Given the description of an element on the screen output the (x, y) to click on. 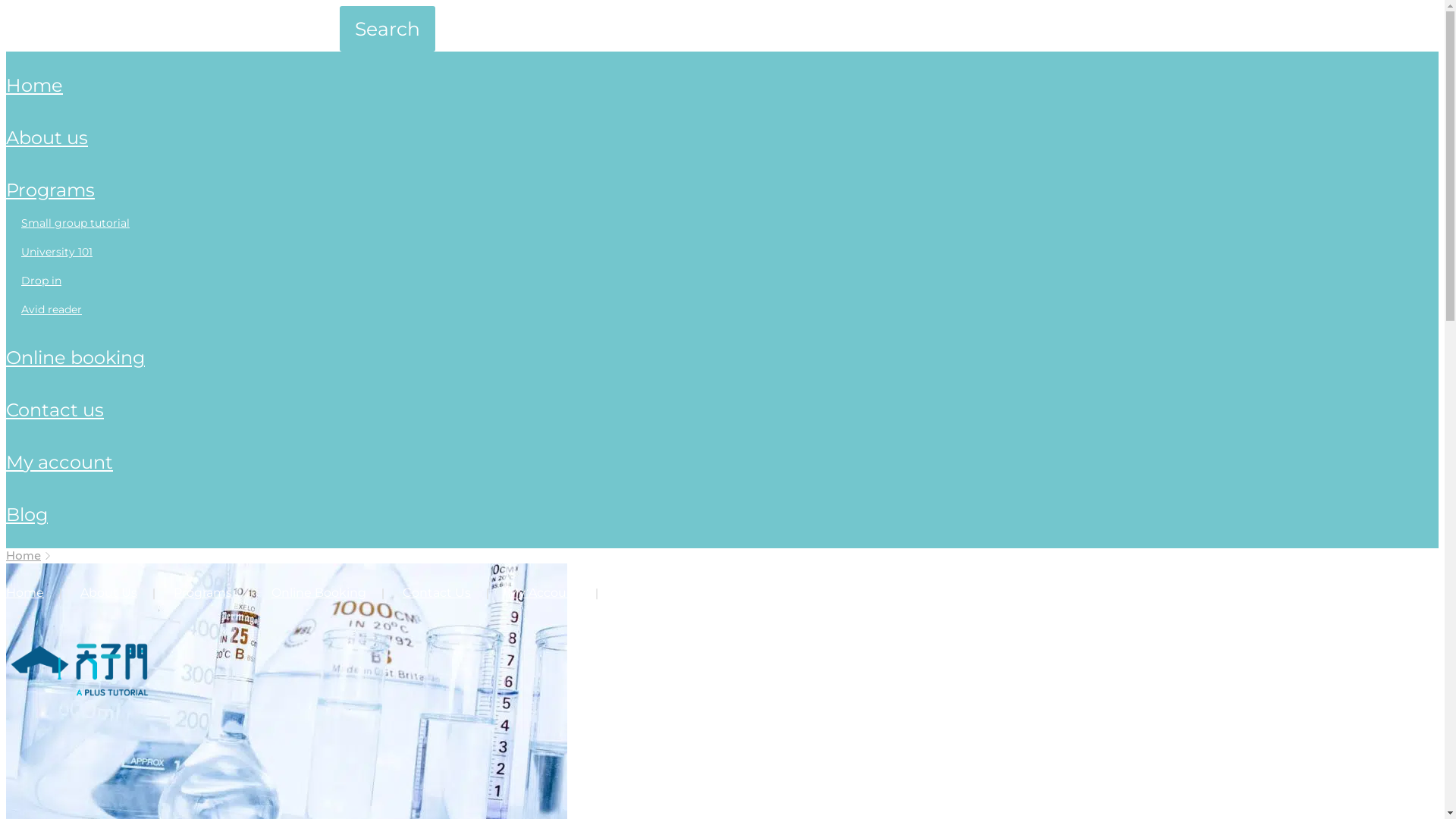
university 101 Element type: text (56, 251)
about us Element type: text (46, 137)
online booking Element type: text (75, 357)
home Element type: text (34, 84)
avid reader Element type: text (51, 308)
programs Element type: text (50, 189)
small group tutorial Element type: text (75, 222)
About Us Element type: text (108, 592)
contact us Element type: text (54, 409)
blog Element type: text (26, 514)
Blog Element type: text (630, 592)
drop in Element type: text (41, 280)
Search Element type: text (387, 28)
Home Element type: text (23, 555)
My Account Element type: text (543, 592)
Programs Element type: text (202, 592)
my account Element type: text (59, 461)
Home Element type: text (24, 592)
Contact Us Element type: text (436, 592)
Online Booking Element type: text (318, 592)
